Given the description of an element on the screen output the (x, y) to click on. 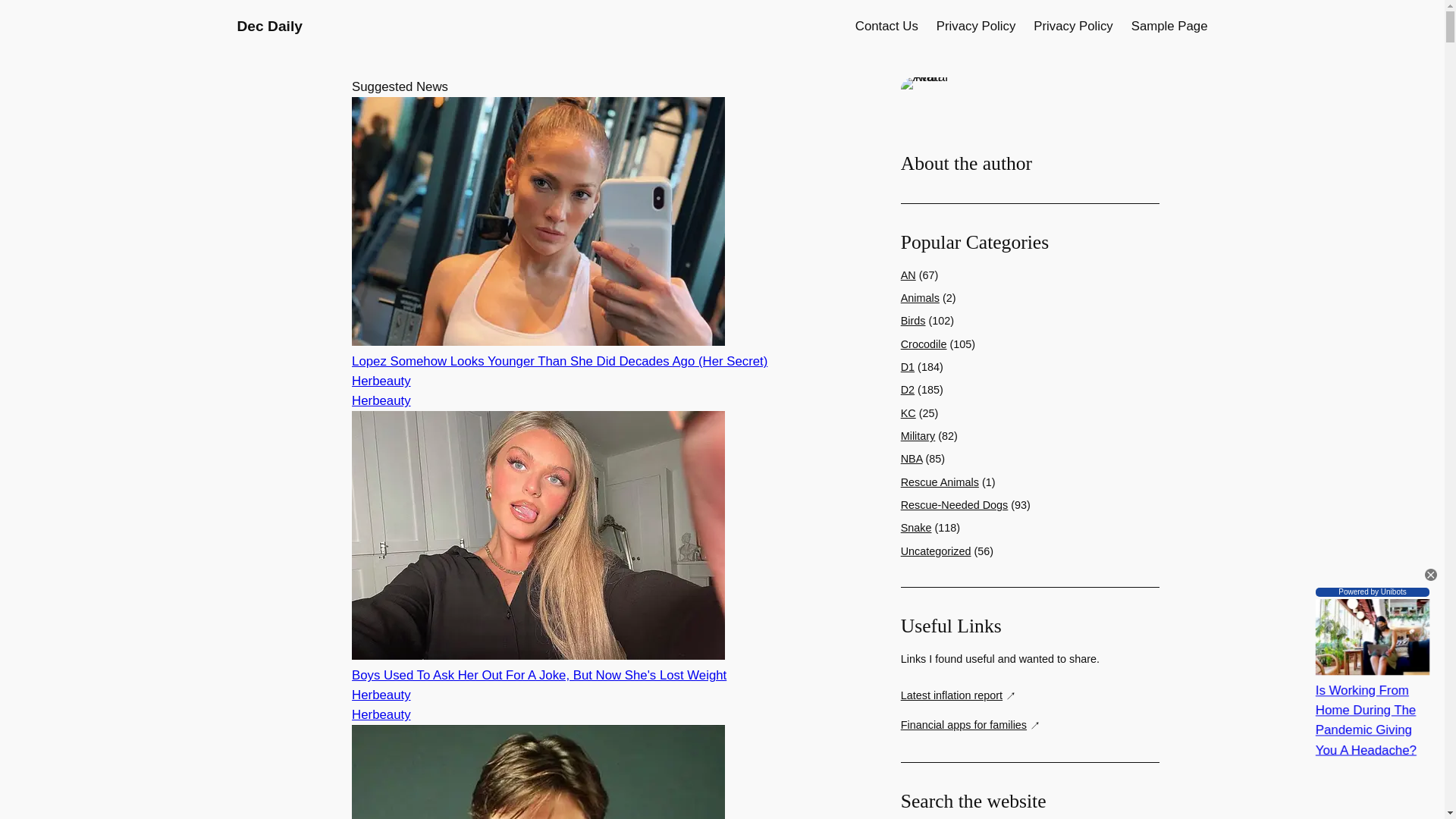
Rescue Animals (939, 481)
Powered by Unibots (1372, 592)
D1 (907, 367)
D2 (907, 389)
Snake (916, 527)
Privacy Policy (975, 26)
Financial apps for families (971, 724)
Uncategorized (936, 551)
KC (908, 413)
Contact Us (887, 26)
Crocodile (924, 344)
Privacy Policy (1072, 26)
Military (918, 435)
NBA (912, 458)
Dec Daily (268, 26)
